Given the description of an element on the screen output the (x, y) to click on. 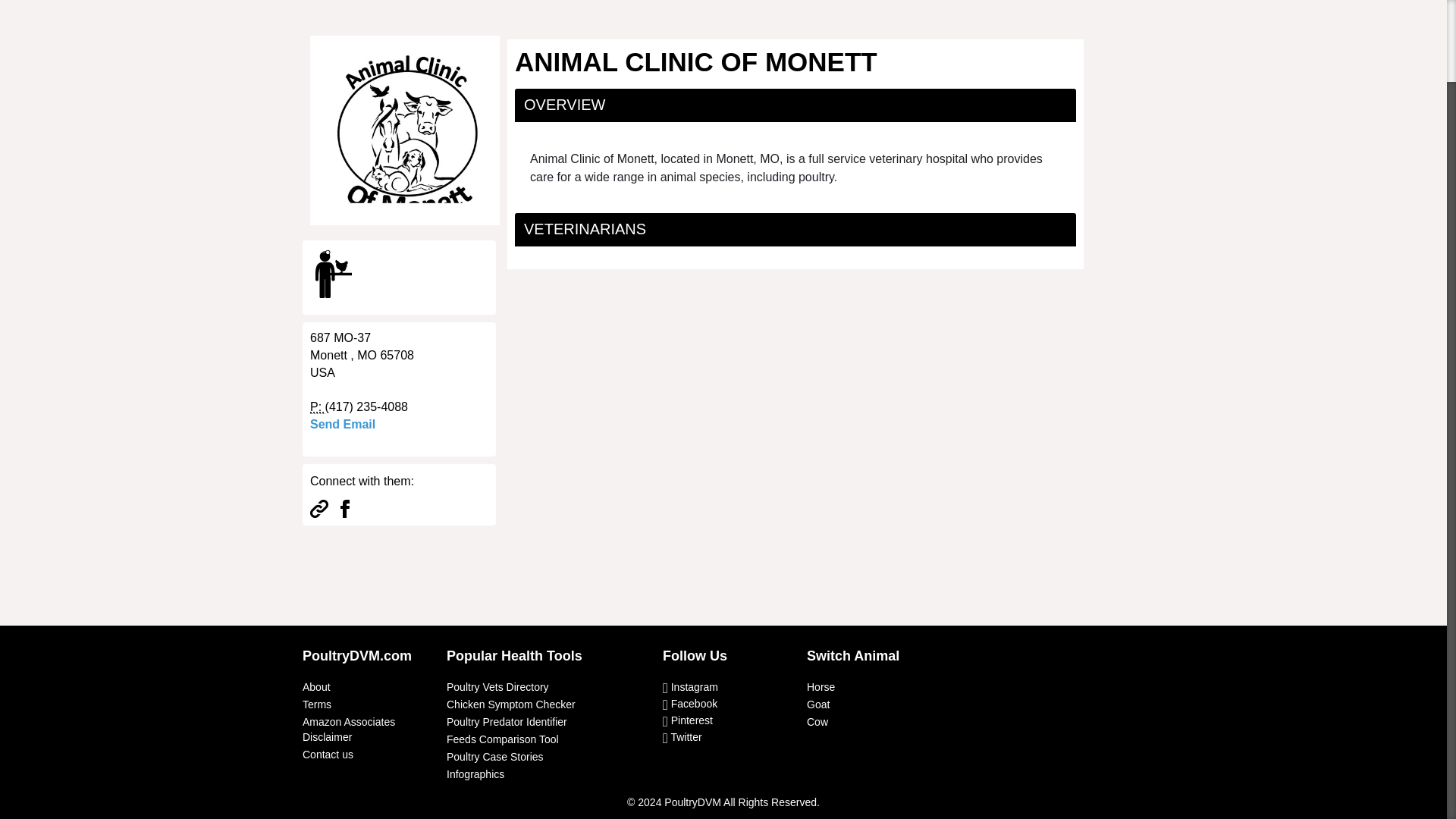
OVERVIEW (564, 104)
VETERINARIANS (585, 228)
Send Email (342, 423)
